Given the description of an element on the screen output the (x, y) to click on. 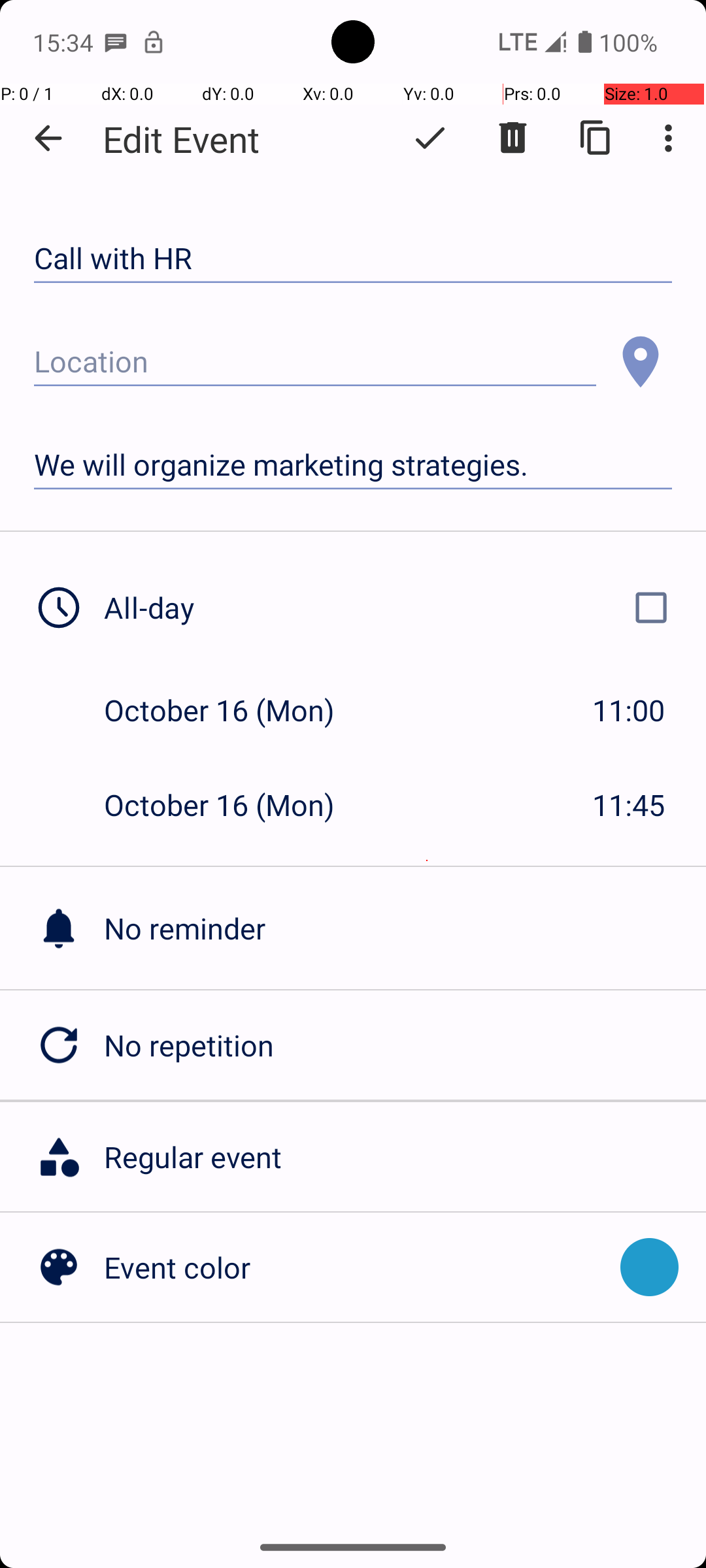
Call with HR Element type: android.widget.EditText (352, 258)
We will organize marketing strategies. Element type: android.widget.EditText (352, 465)
11:45 Element type: android.widget.TextView (628, 804)
